Given the description of an element on the screen output the (x, y) to click on. 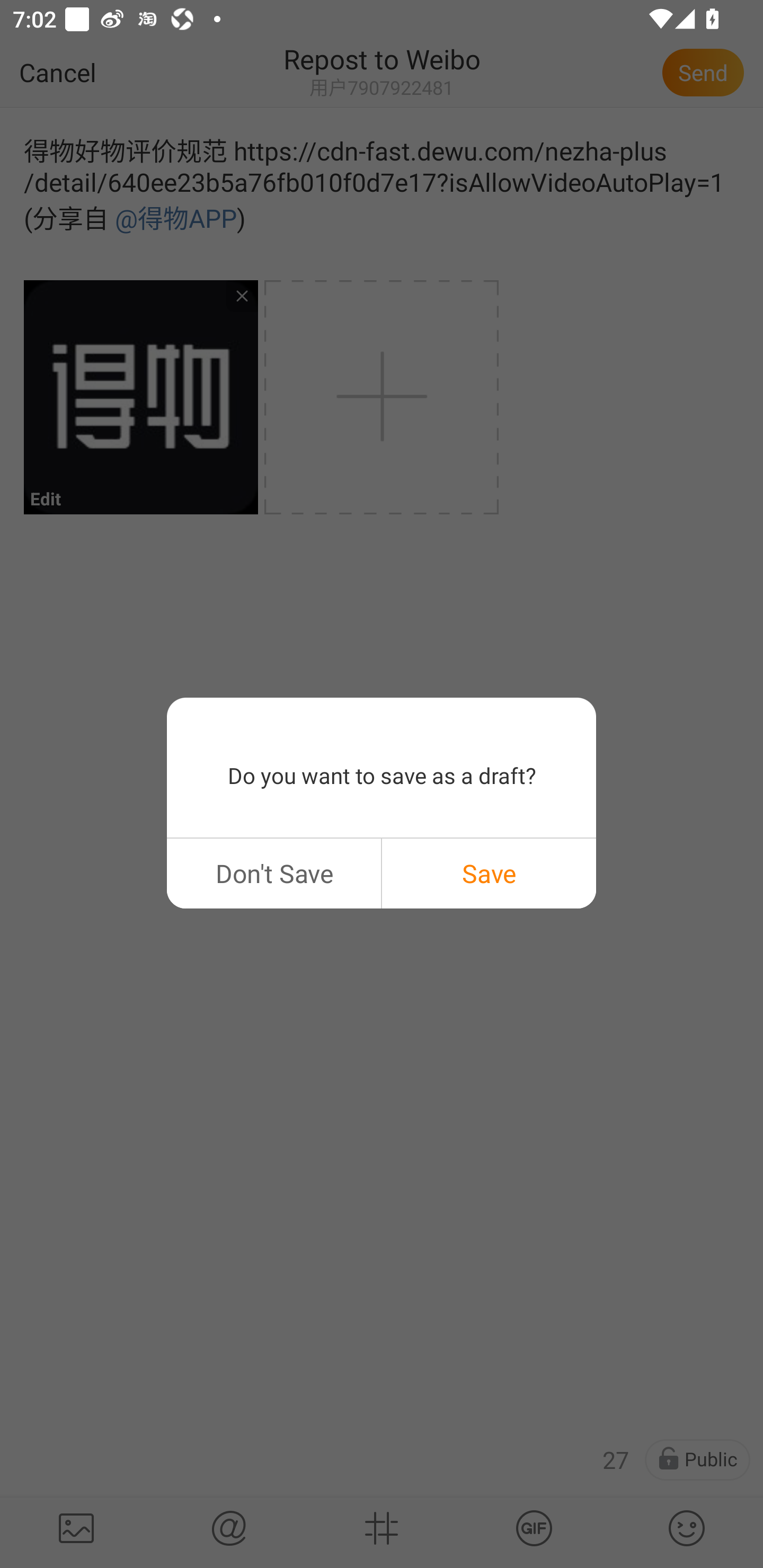
Don't Save (273, 872)
Save (488, 872)
